Given the description of an element on the screen output the (x, y) to click on. 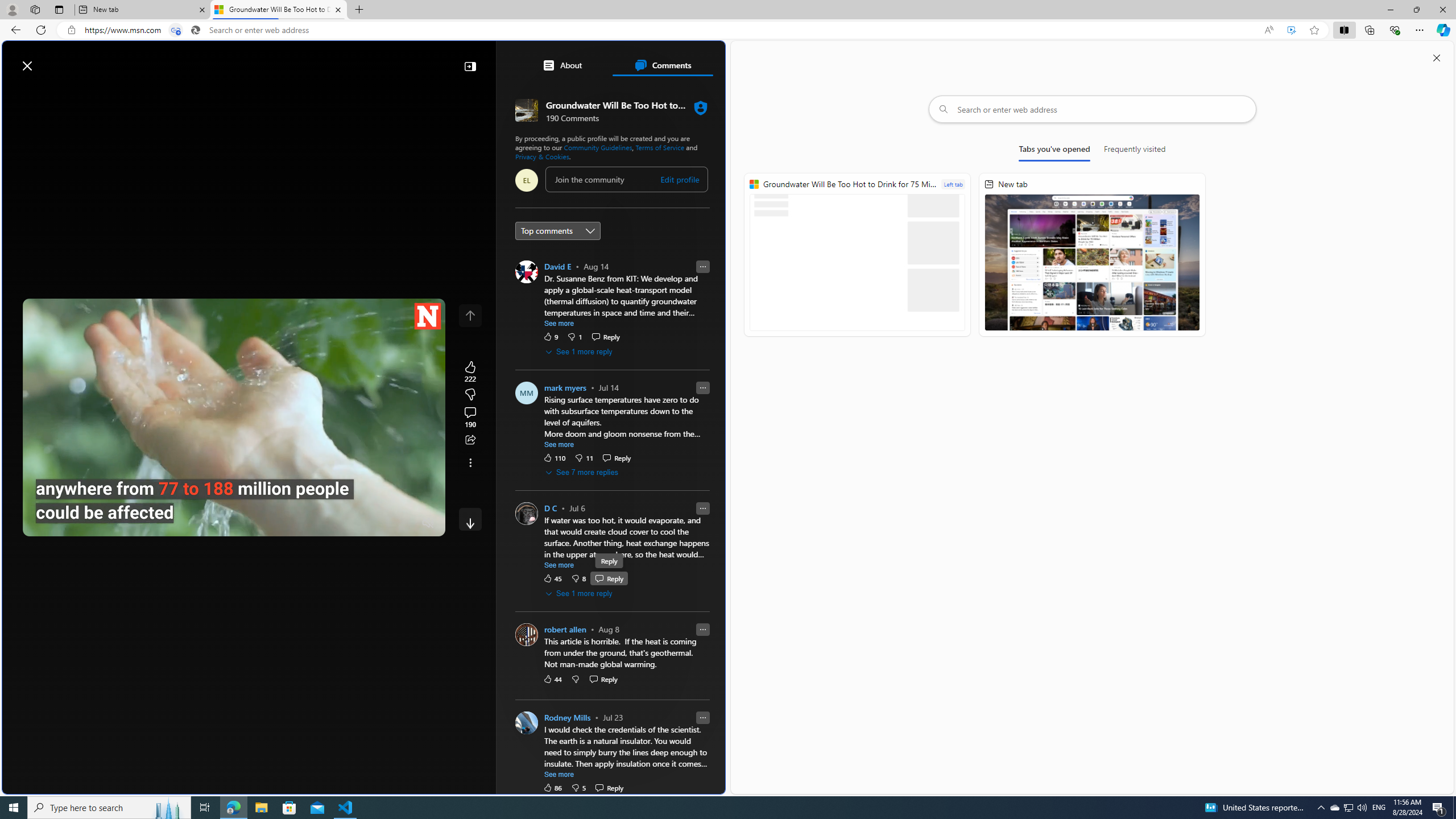
Quality Settings (360, 523)
Notifications (676, 60)
David E (557, 266)
Enter your search term (366, 59)
Open navigation menu (16, 92)
110 Like (554, 457)
222 Like (469, 371)
AutomationID: e5rZOEMGacU1 (469, 518)
